Given the description of an element on the screen output the (x, y) to click on. 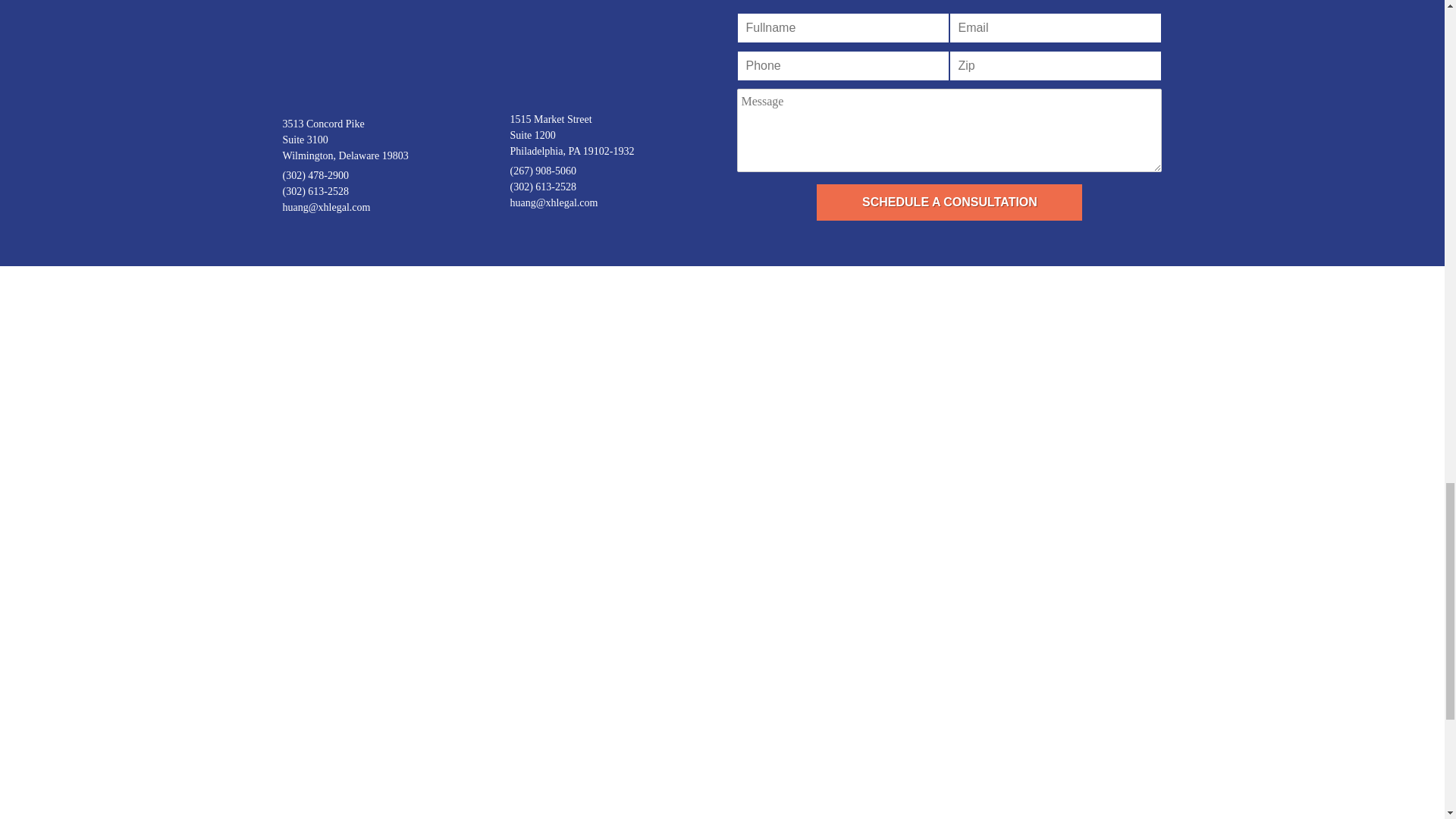
Schedule A Consultation (948, 202)
